Given the description of an element on the screen output the (x, y) to click on. 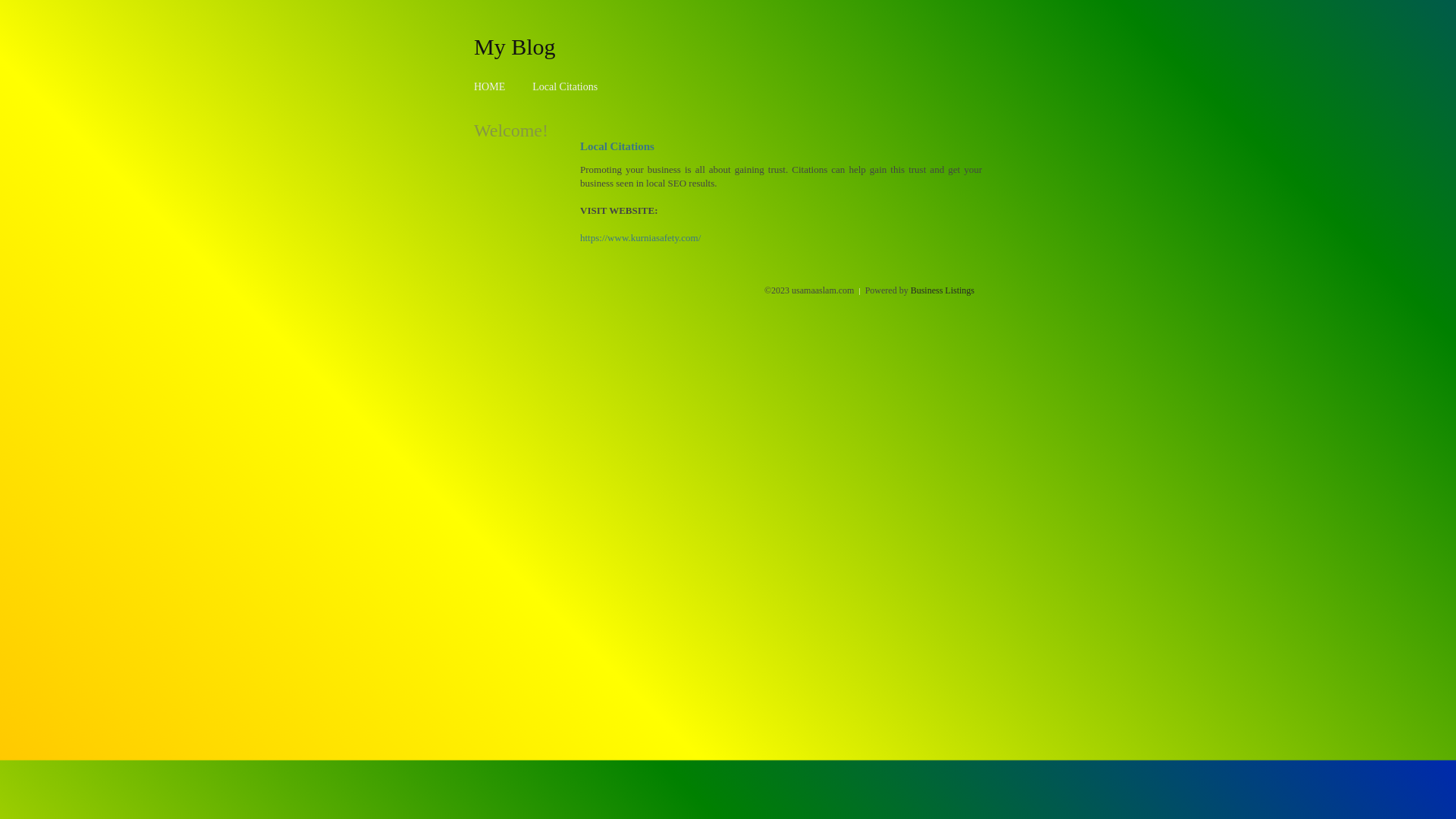
https://www.kurniasafety.com/ Element type: text (640, 237)
Business Listings Element type: text (942, 290)
Local Citations Element type: text (564, 86)
My Blog Element type: text (514, 46)
HOME Element type: text (489, 86)
